Given the description of an element on the screen output the (x, y) to click on. 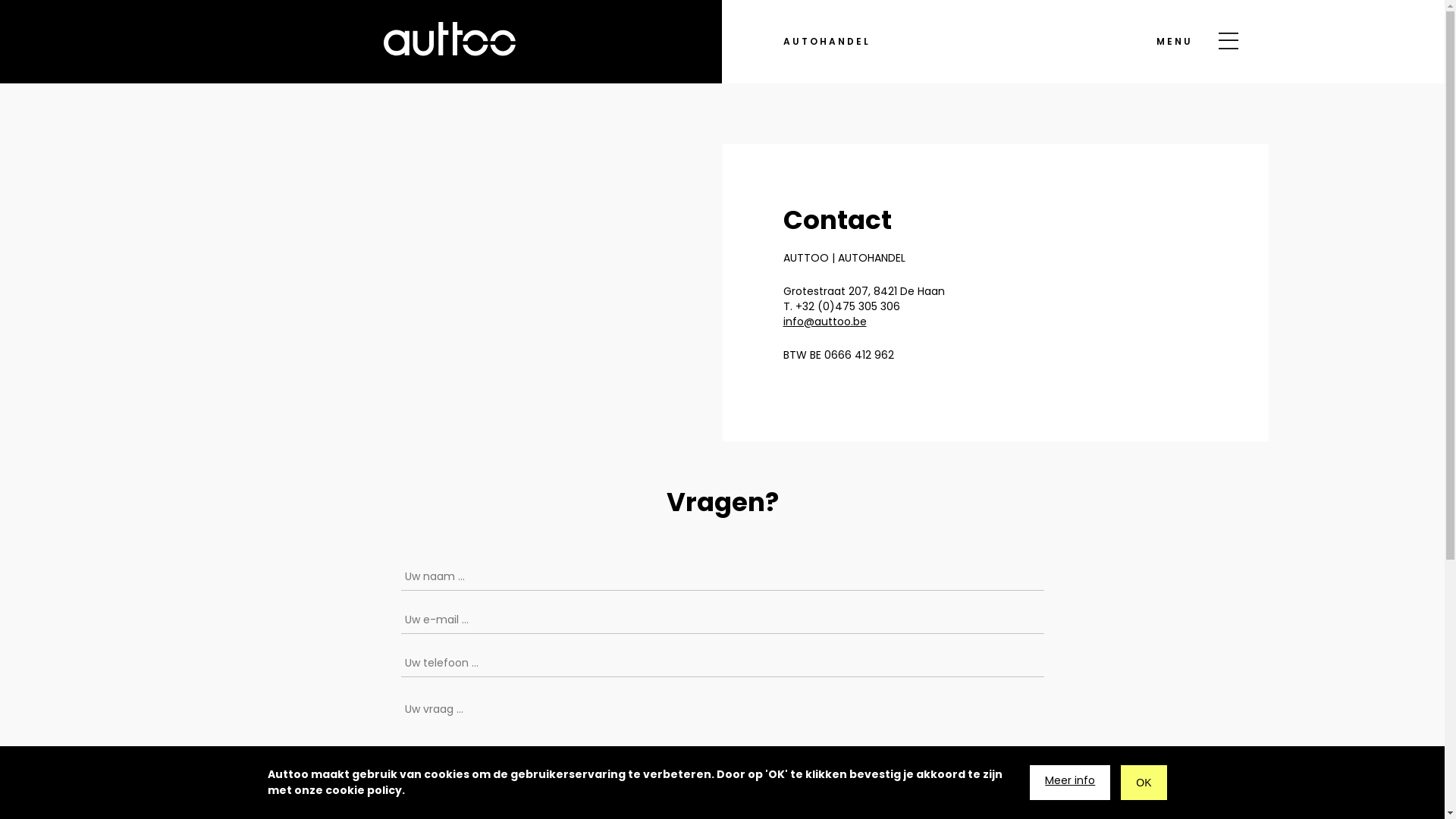
OK Element type: text (1143, 782)
Meer info Element type: text (1069, 782)
MENU Element type: text (1192, 41)
Auttoo - Autohandel Element type: text (449, 38)
info@auttoo.be Element type: text (824, 321)
